Given the description of an element on the screen output the (x, y) to click on. 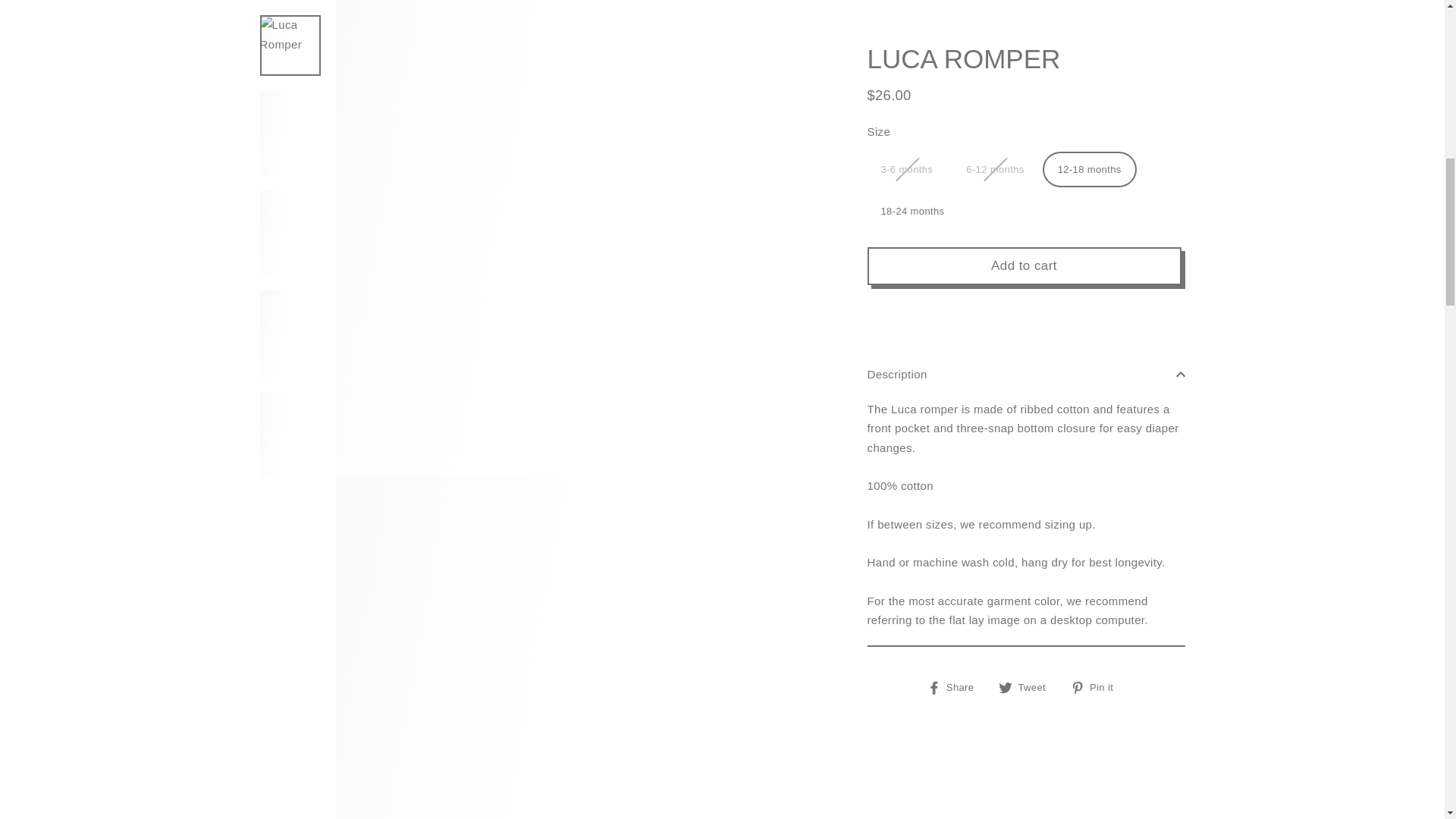
Pin on Pinterest (1097, 45)
Tweet on Twitter (1027, 45)
Share on Facebook (956, 45)
